Given the description of an element on the screen output the (x, y) to click on. 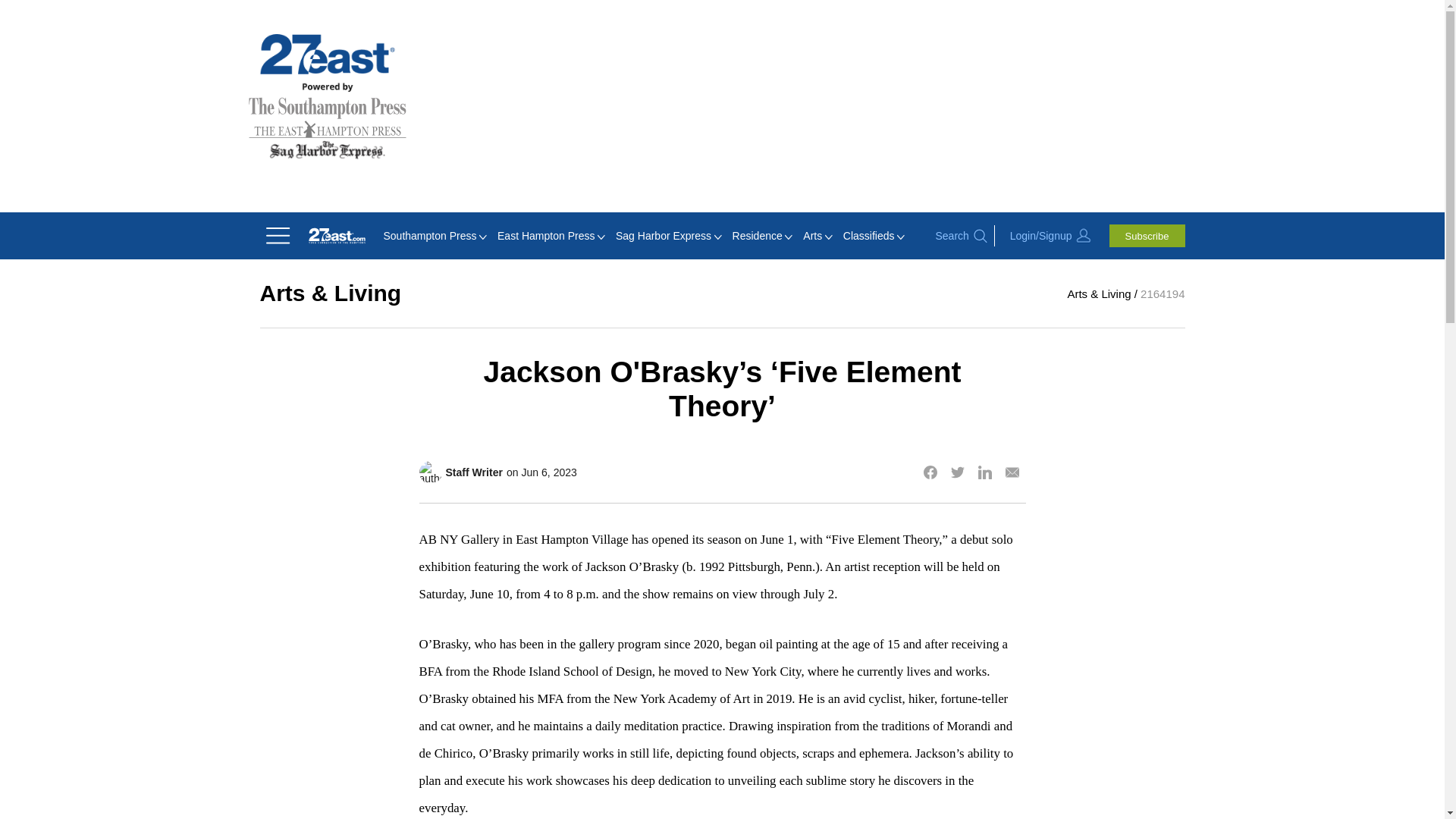
Share on Email (1011, 472)
Share on LinkedIn (984, 472)
Share on Twitter (957, 472)
Share on Facebook (929, 472)
